Given the description of an element on the screen output the (x, y) to click on. 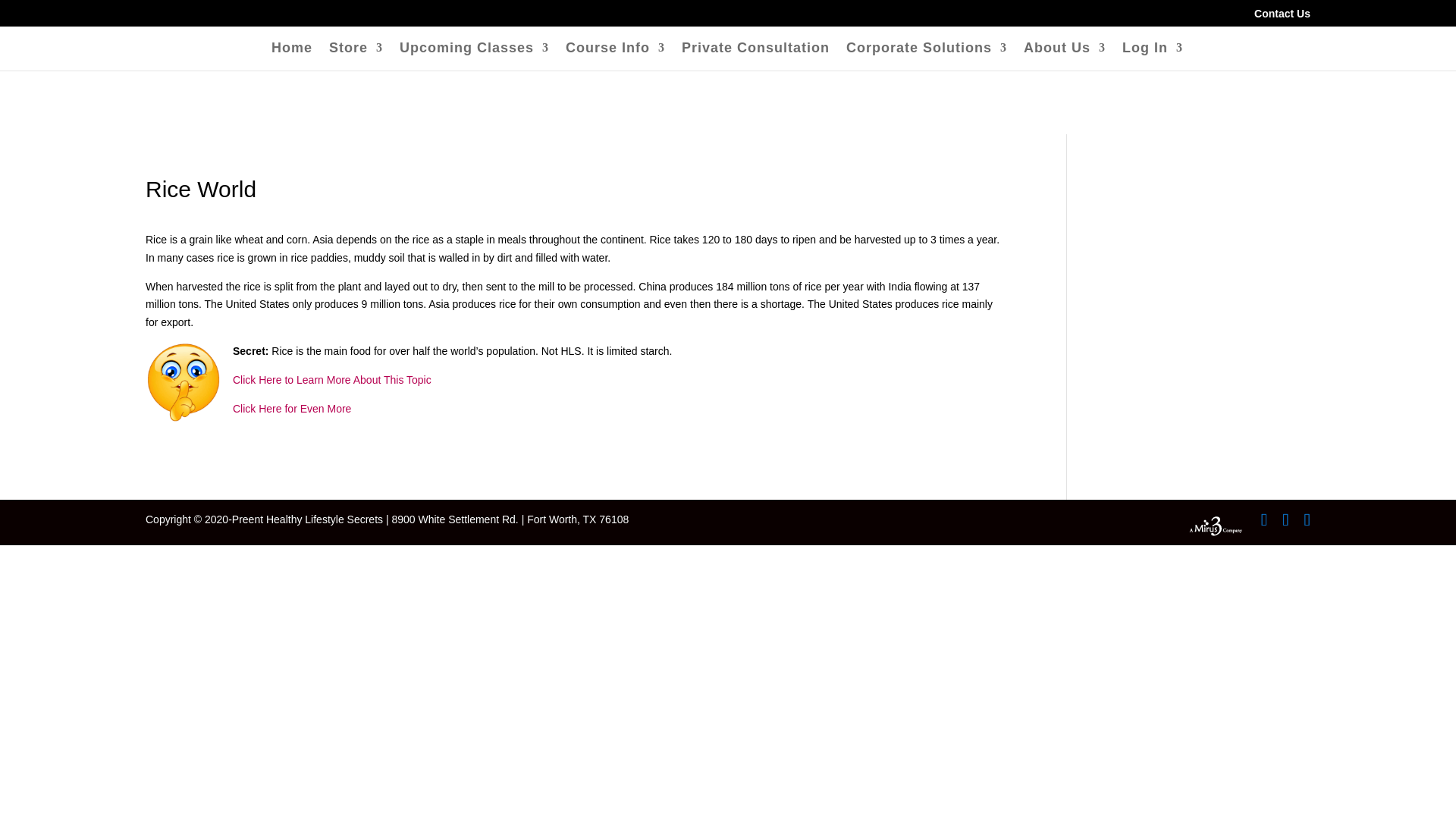
Corporate Solutions (926, 56)
Private Consultation (755, 56)
Upcoming Classes (473, 56)
Log In (1152, 56)
Store (355, 56)
About Us (1064, 56)
Contact Us (1281, 16)
Home (291, 56)
Course Info (615, 56)
